Given the description of an element on the screen output the (x, y) to click on. 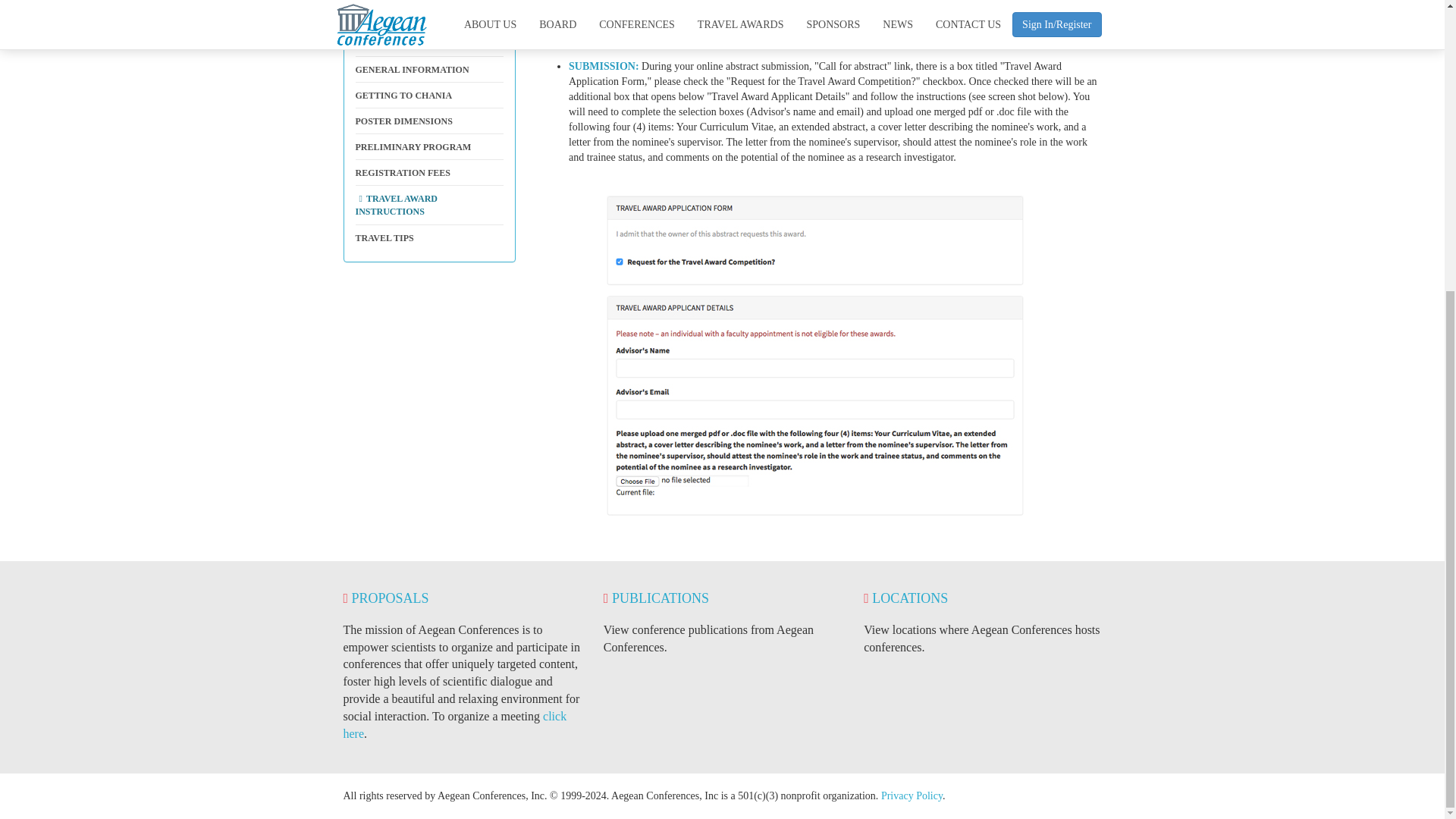
TRAVEL TIPS (429, 238)
Privacy Policy (911, 795)
GETTING TO CHANIA (429, 95)
PRELIMINARY PROGRAM (429, 146)
LOCATIONS (905, 598)
PUBLICATIONS (656, 598)
CONFERENCE SESSIONS (429, 43)
GENERAL INFORMATION (429, 69)
REGISTRATION FEES (429, 173)
PROPOSALS (385, 598)
